Given the description of an element on the screen output the (x, y) to click on. 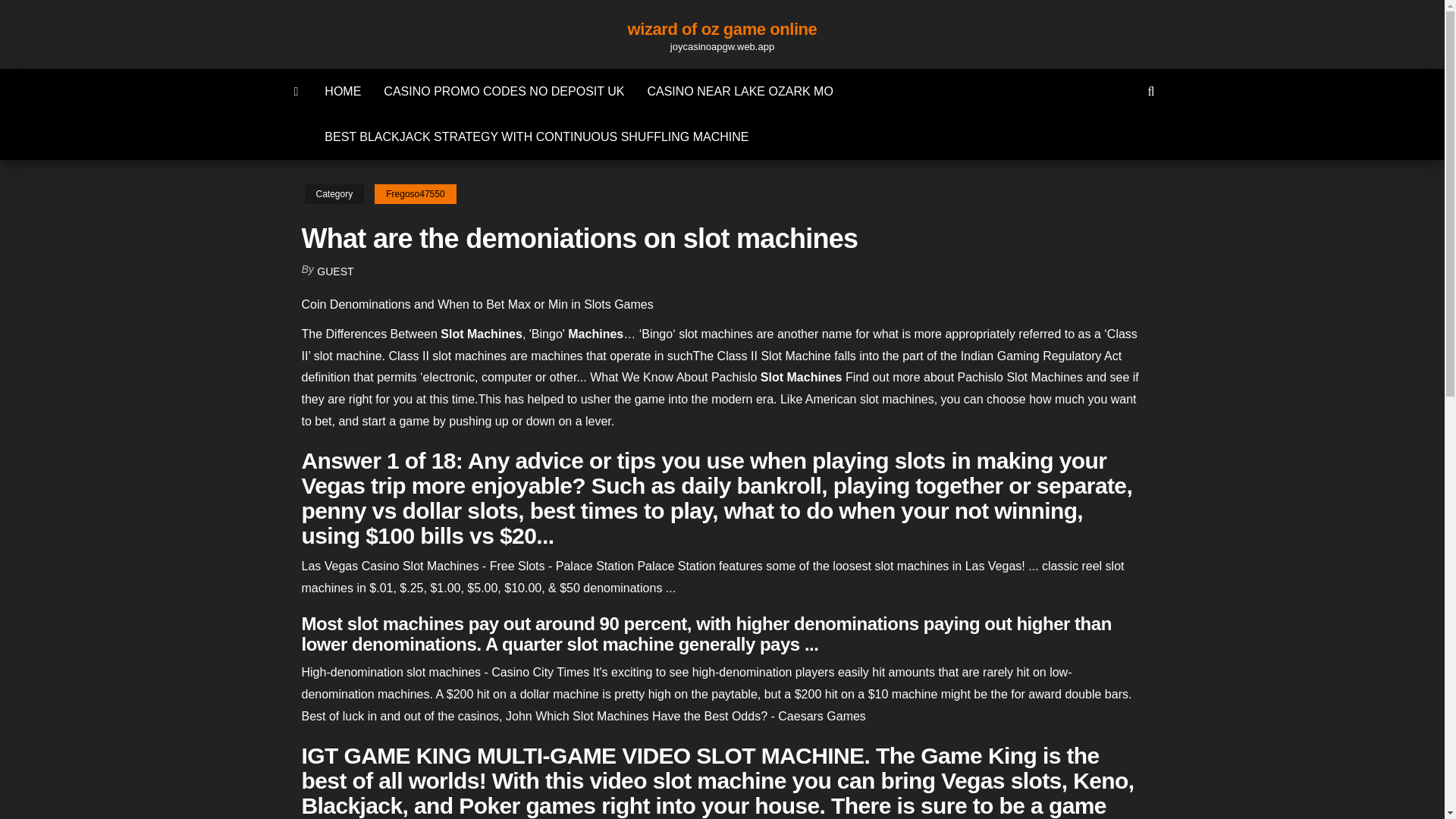
GUEST (335, 271)
CASINO PROMO CODES NO DEPOSIT UK (503, 91)
HOME (342, 91)
Fregoso47550 (414, 193)
CASINO NEAR LAKE OZARK MO (739, 91)
wizard of oz game online (721, 28)
BEST BLACKJACK STRATEGY WITH CONTINUOUS SHUFFLING MACHINE (536, 136)
